Given the description of an element on the screen output the (x, y) to click on. 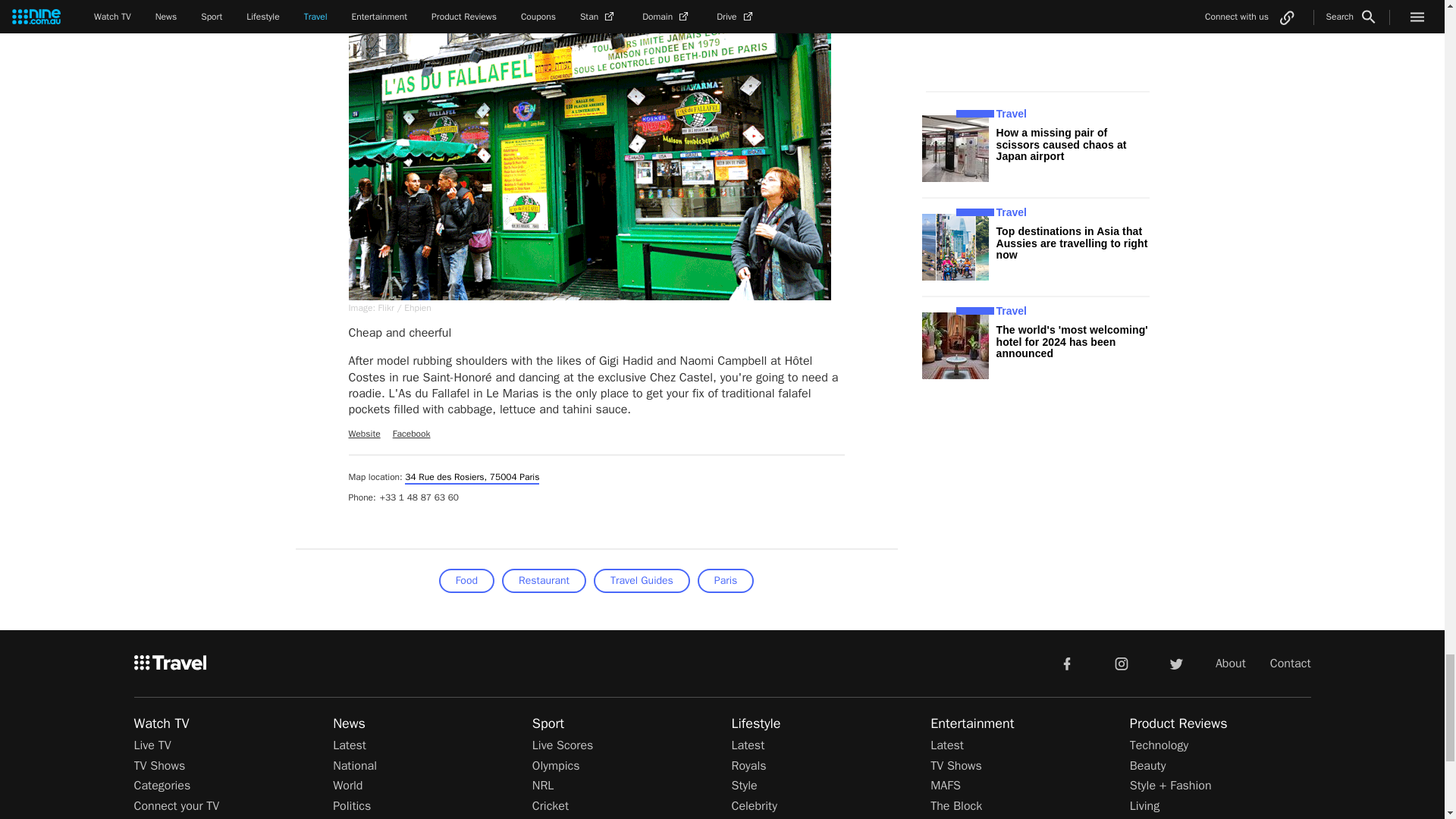
facebook (1066, 662)
instagram (1121, 662)
twitter (1175, 662)
